Given the description of an element on the screen output the (x, y) to click on. 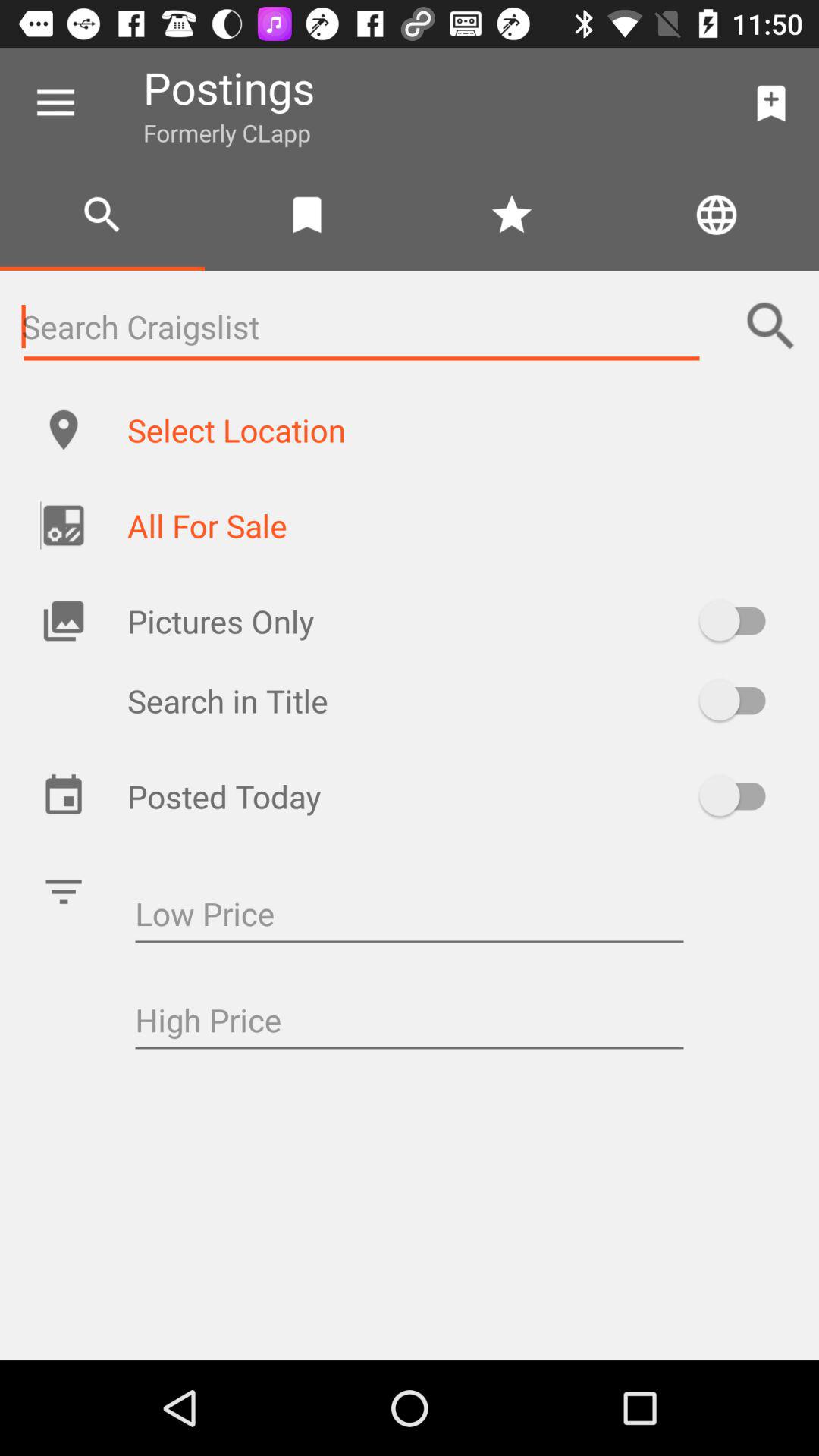
toggle posted today option (739, 795)
